Given the description of an element on the screen output the (x, y) to click on. 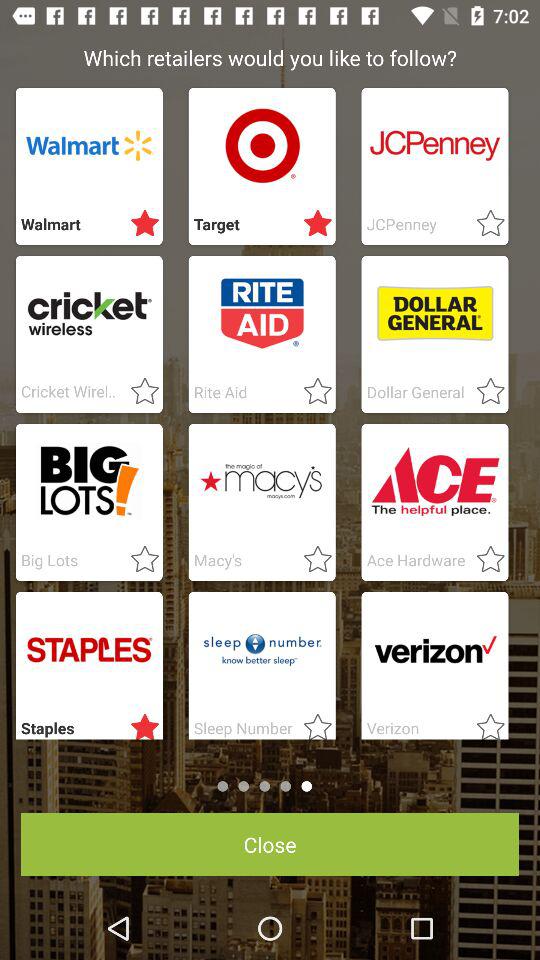
add to favourite (484, 560)
